Given the description of an element on the screen output the (x, y) to click on. 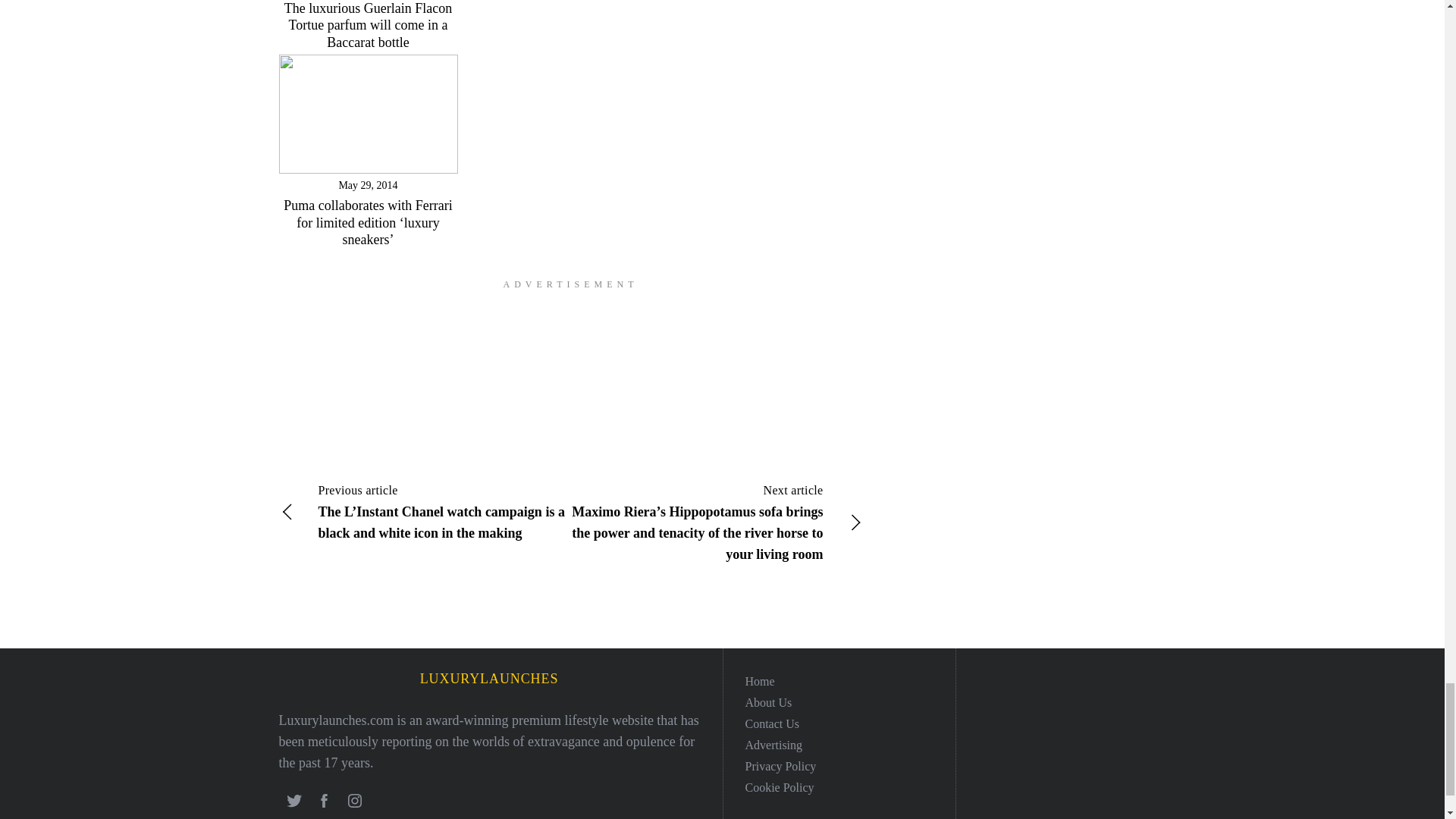
Contact us (771, 723)
Cookie Policy (778, 787)
Home (759, 680)
About Us (768, 702)
Advertising (773, 744)
Privacy Policy (779, 766)
